Given the description of an element on the screen output the (x, y) to click on. 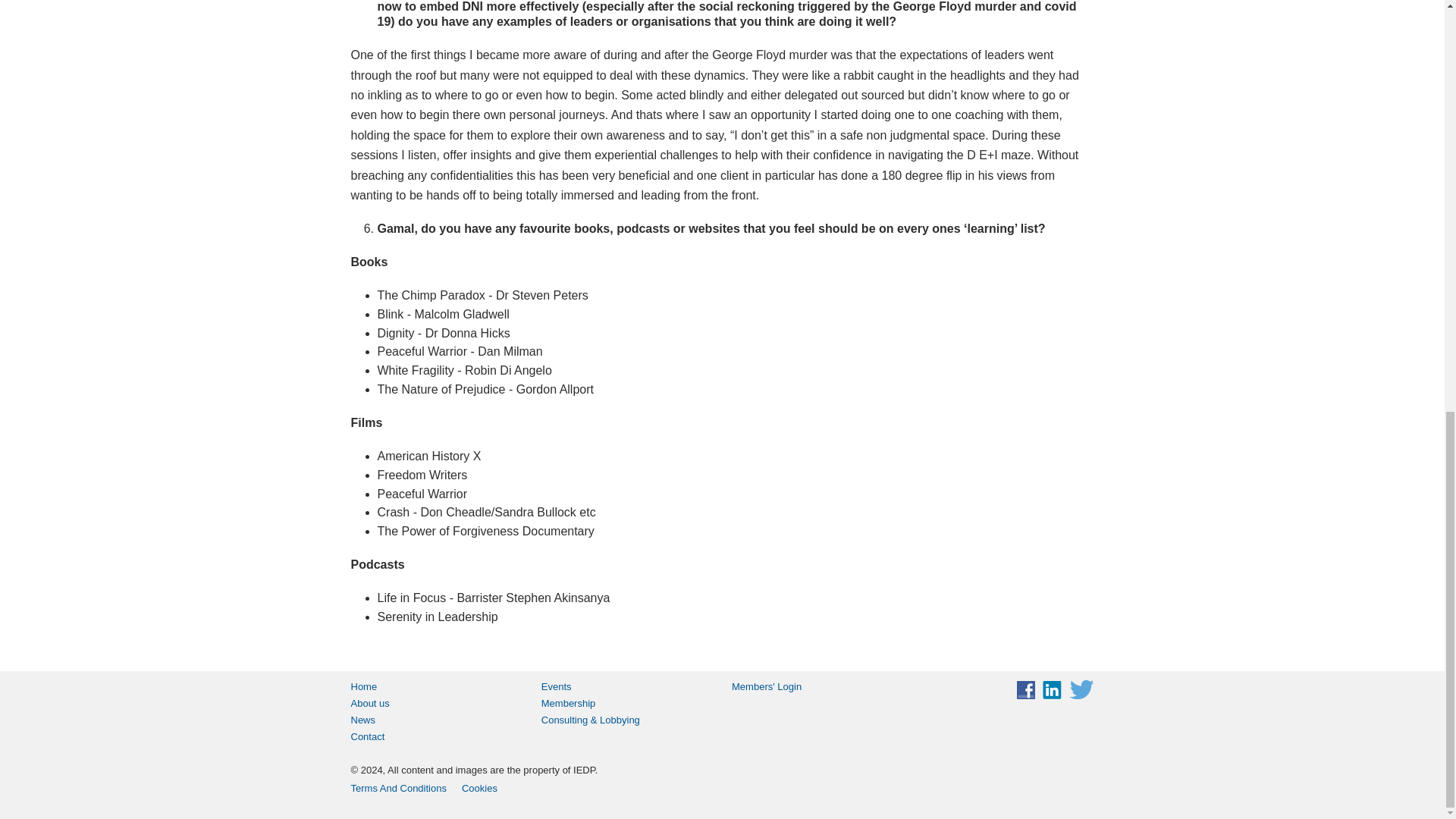
Terms And Conditions (397, 788)
Follow IEDP on Twitter (1080, 689)
Events (627, 686)
About us (435, 703)
Join us on Facebook (1025, 689)
Contact (435, 736)
Members' Login (817, 686)
Home (435, 686)
News (435, 719)
Cookies (479, 788)
Membership (627, 703)
Join our network on LinkedIn (1051, 689)
